Given the description of an element on the screen output the (x, y) to click on. 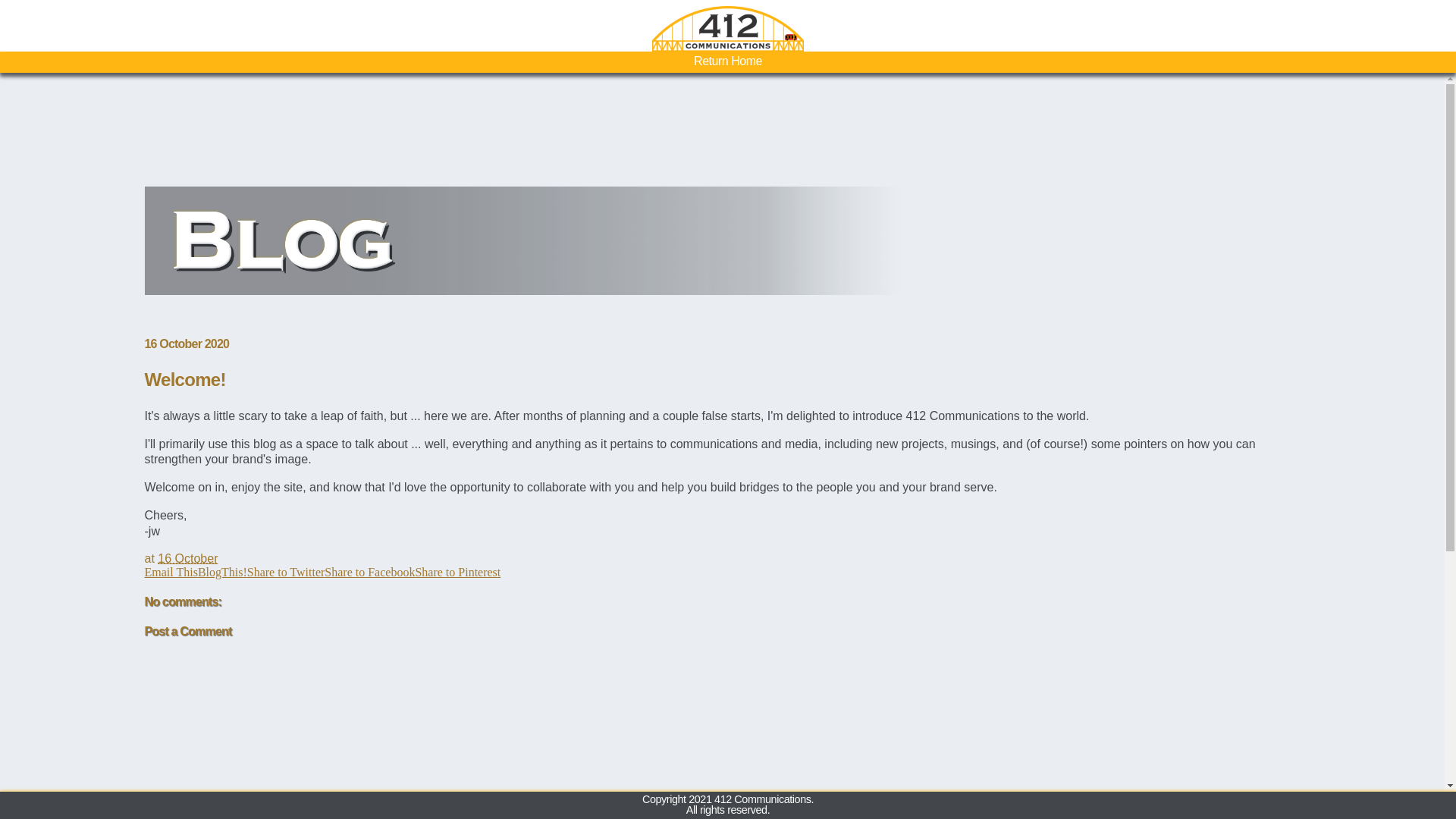
Share to Facebook Element type: text (369, 571)
BlogThis! Element type: text (222, 571)
Email This Element type: text (170, 571)
Share to Pinterest Element type: text (457, 571)
16 October Element type: text (187, 558)
Share to Twitter Element type: text (286, 571)
Return Home Element type: text (727, 61)
